Given the description of an element on the screen output the (x, y) to click on. 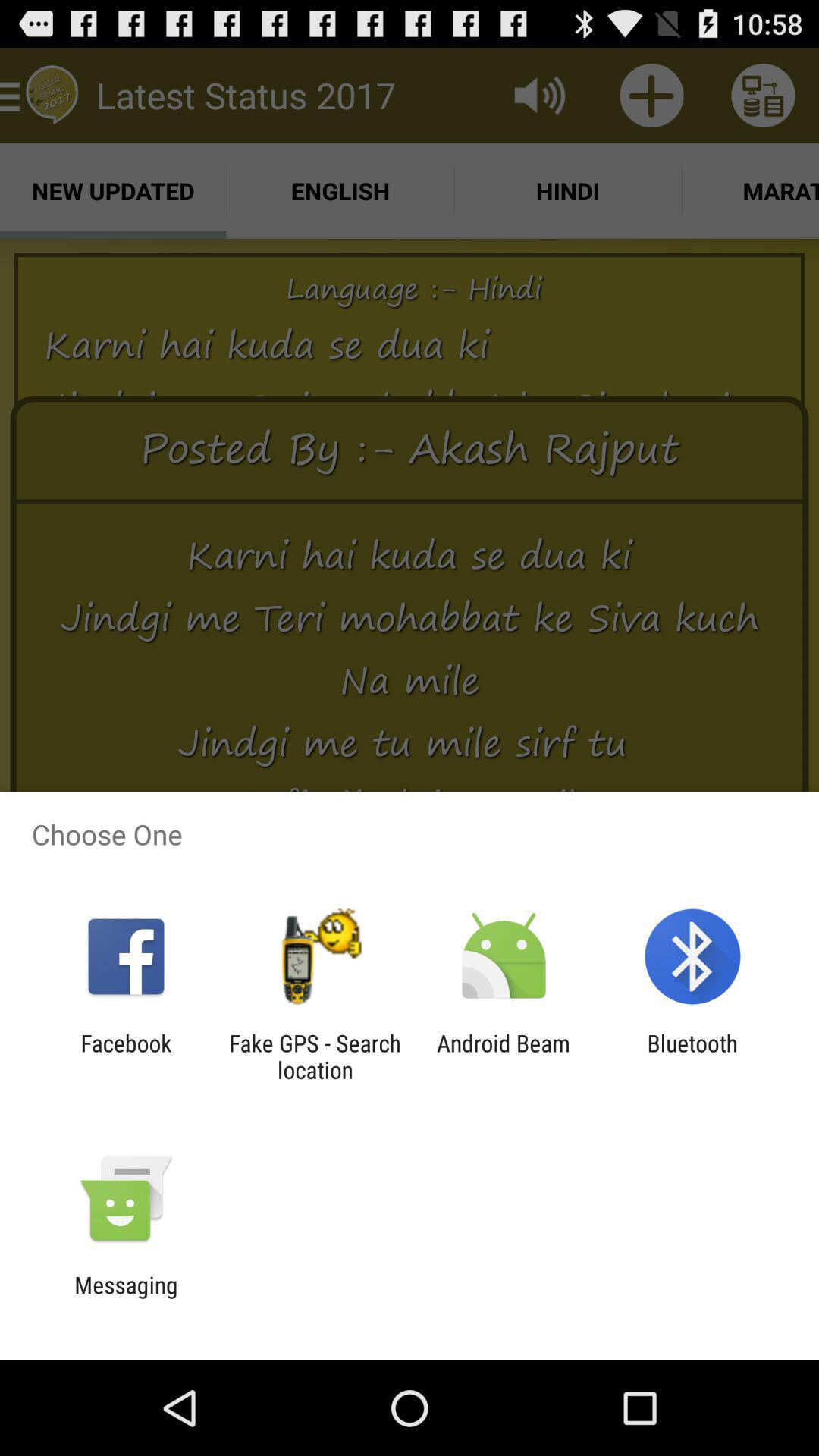
turn on icon to the left of the fake gps search item (125, 1056)
